Given the description of an element on the screen output the (x, y) to click on. 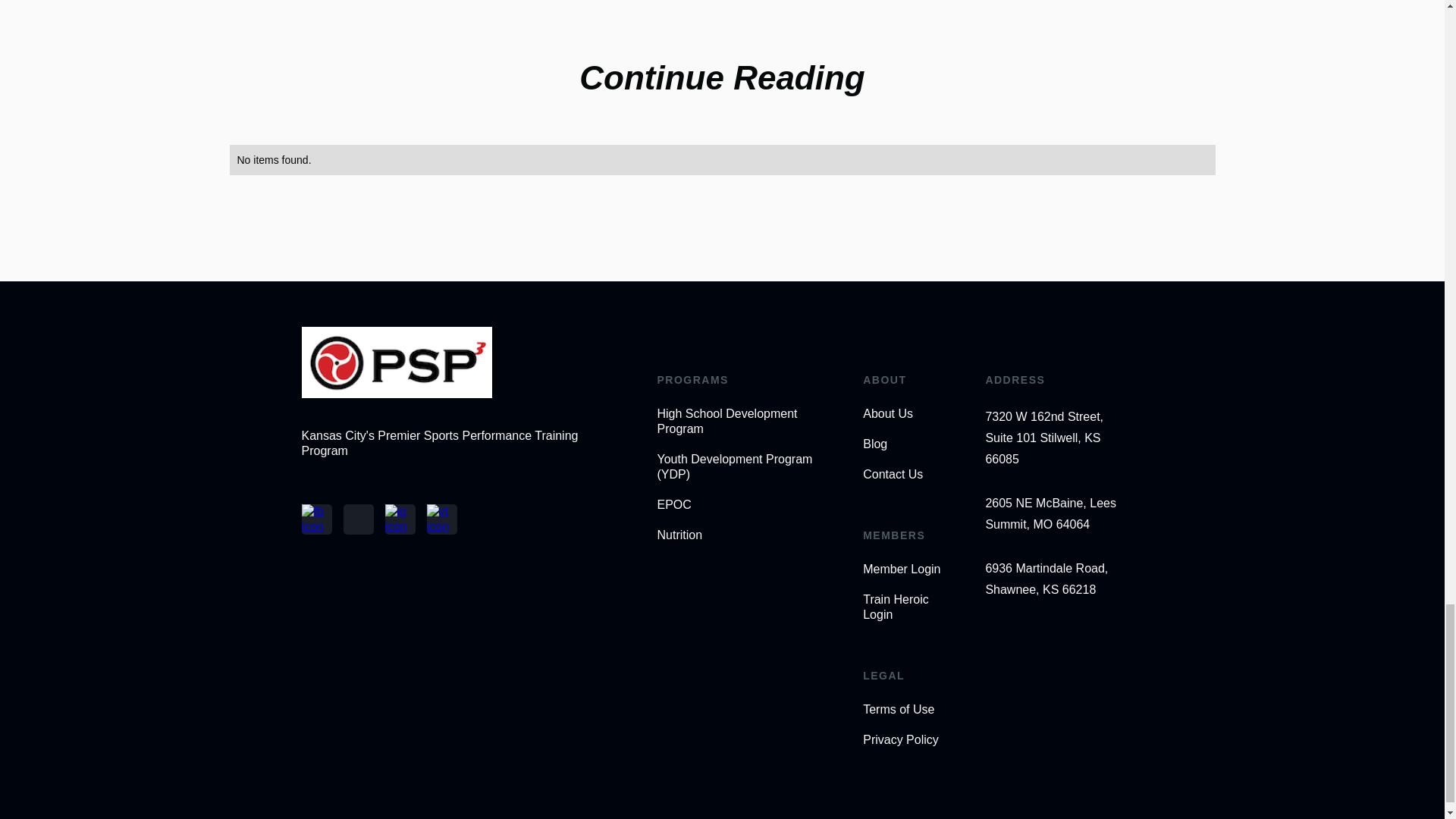
High School Development Program (742, 421)
Terms of Use (907, 709)
Privacy Policy (907, 739)
Train Heroic Login (907, 607)
Nutrition (742, 534)
Contact Us (907, 474)
EPOC (742, 504)
About Us (907, 413)
Blog (907, 444)
Member Login (907, 569)
